Given the description of an element on the screen output the (x, y) to click on. 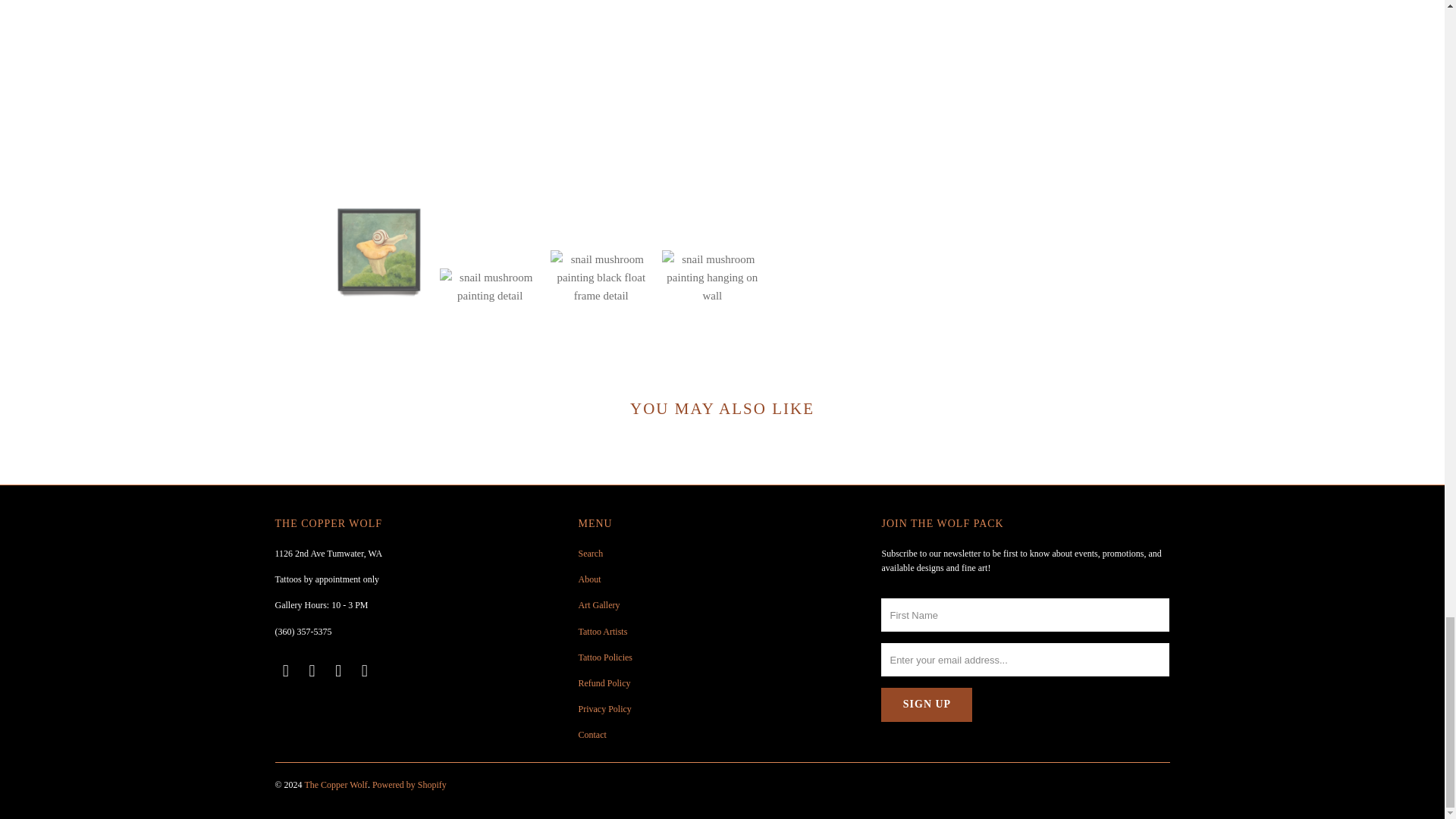
The Copper Wolf  on Instagram (338, 670)
Email The Copper Wolf  (286, 670)
Sign Up (926, 704)
The Copper Wolf  on Pinterest (365, 670)
The Copper Wolf  on Facebook (312, 670)
